Given the description of an element on the screen output the (x, y) to click on. 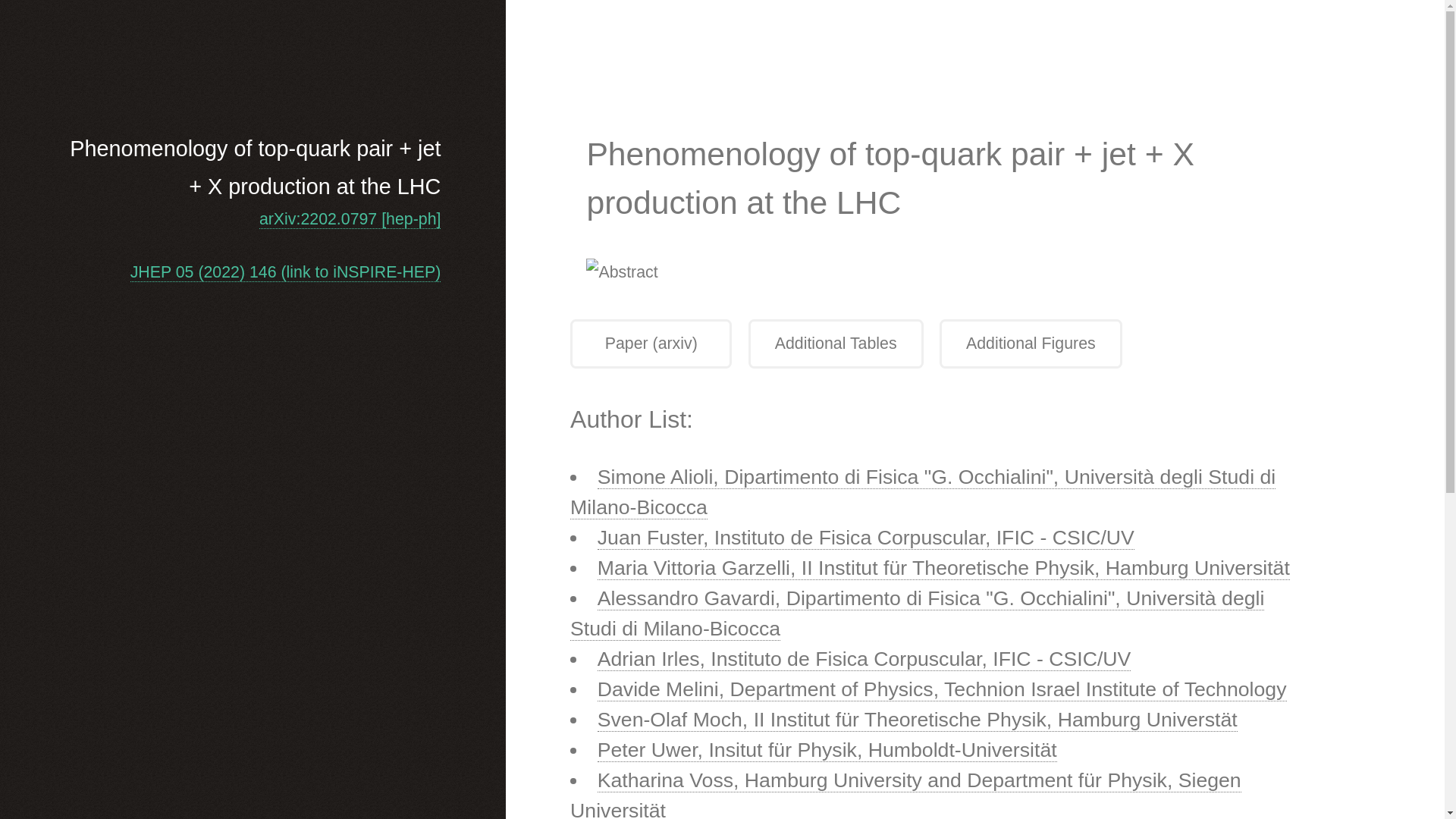
Paper (arxiv) Element type: text (650, 343)
arXiv:2202.0797 [hep-ph] Element type: text (350, 219)
Additional Figures Element type: text (1030, 343)
Additional Tables Element type: text (835, 343)
Juan Fuster, Instituto de Fisica Corpuscular, IFIC - CSIC/UV Element type: text (865, 537)
JHEP 05 (2022) 146 (link to iNSPIRE-HEP) Element type: text (285, 272)
